Given the description of an element on the screen output the (x, y) to click on. 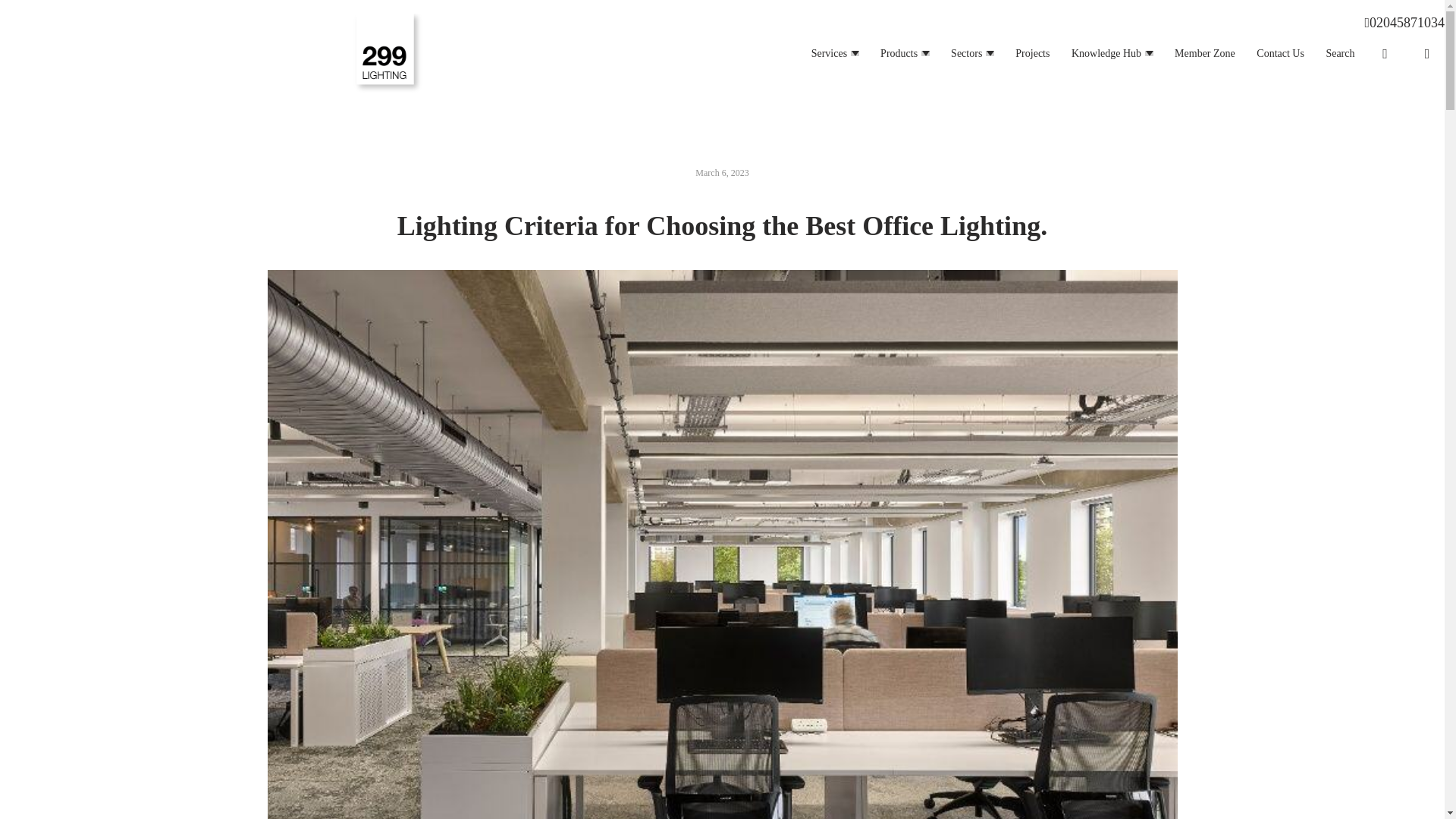
Show submenu for Services (854, 53)
Services (828, 52)
Show submenu for Sectors (989, 53)
Sectors (965, 52)
Products (898, 52)
Show submenu for Products (925, 53)
